Given the description of an element on the screen output the (x, y) to click on. 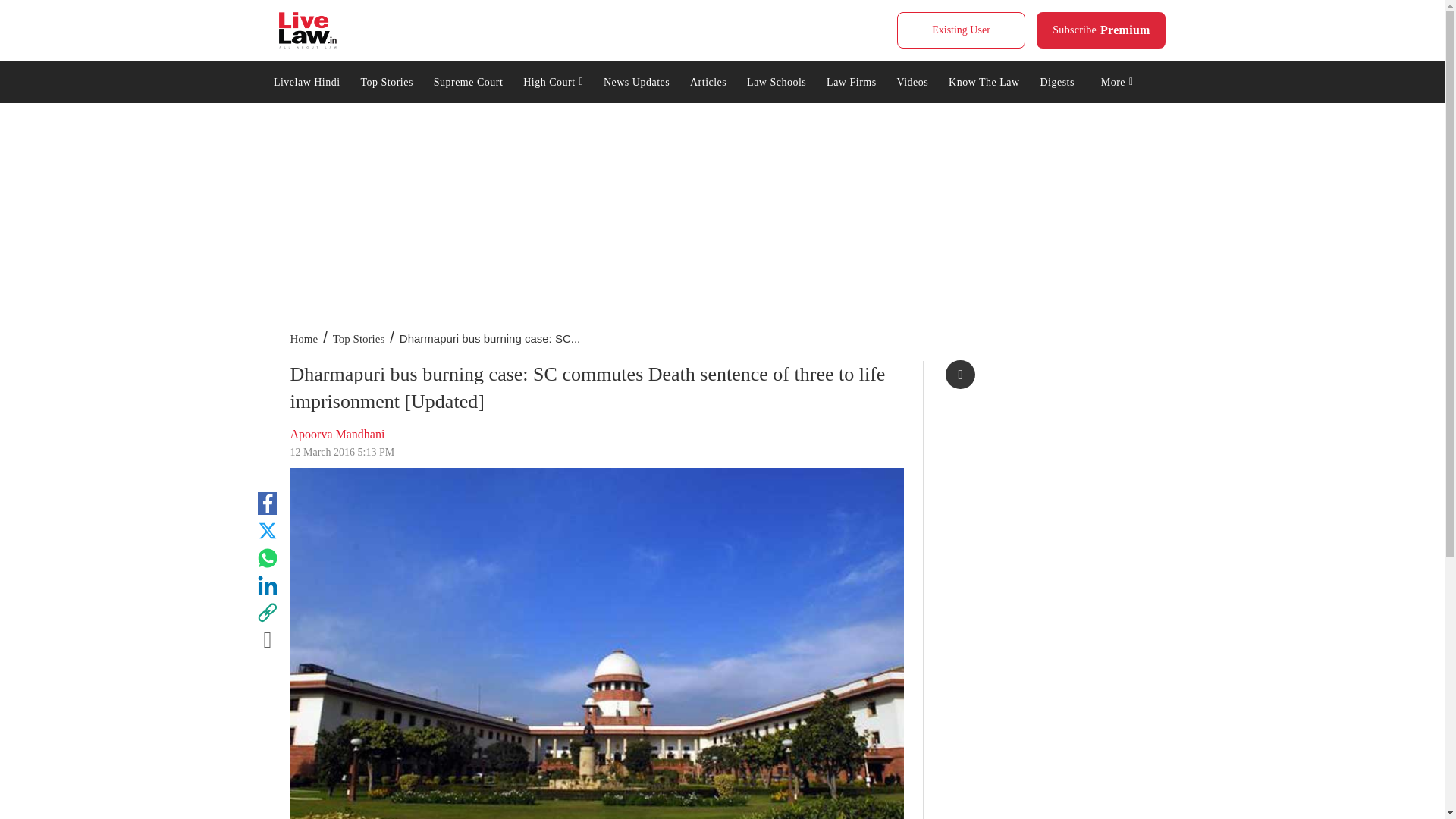
Livelaw Hindi (306, 80)
Existing User (960, 30)
High Court (553, 80)
Top Stories (386, 80)
Supreme Court (1101, 30)
Live Law (467, 80)
